Given the description of an element on the screen output the (x, y) to click on. 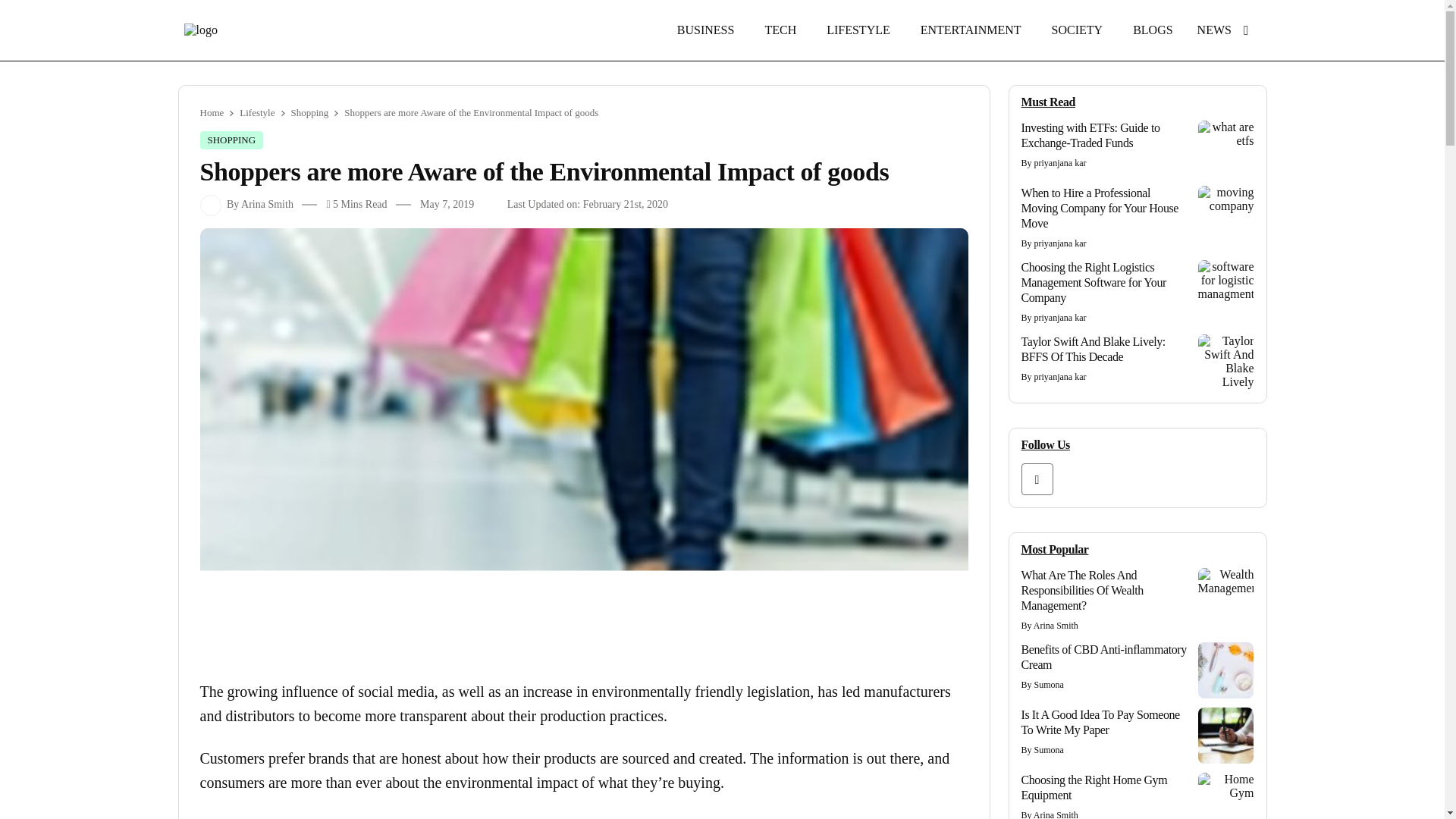
BUSINESS (706, 30)
BLOGS (1152, 30)
Shopping (231, 140)
TECH (780, 30)
NEWS (1213, 30)
SOCIETY (1077, 30)
ENTERTAINMENT (971, 30)
Shopping (310, 112)
LIFESTYLE (858, 30)
